Given the description of an element on the screen output the (x, y) to click on. 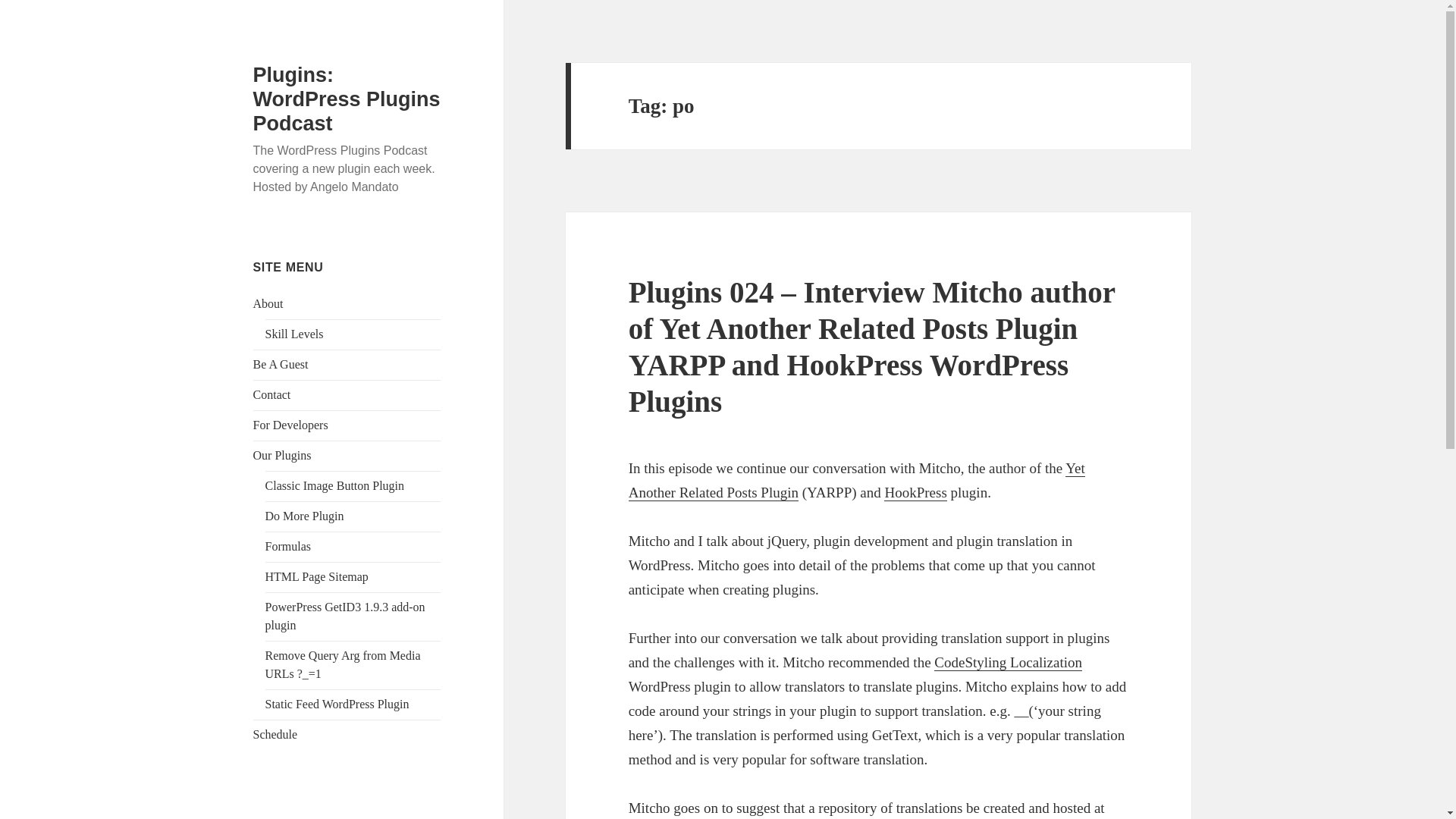
Plugins: WordPress Plugins Podcast (347, 99)
Contact (272, 394)
Yet Another Related Posts Plugin (856, 480)
Skill Levels (293, 333)
About (268, 303)
HookPress (914, 492)
Be A Guest (280, 364)
Yet Another Related Posts Plugin (856, 480)
Static Feed WordPress Plugin (336, 703)
Formulas (287, 545)
For Developers (291, 424)
HTML Page Sitemap (316, 576)
Schedule (275, 734)
Do More Plugin (303, 515)
HookPress (914, 492)
